Given the description of an element on the screen output the (x, y) to click on. 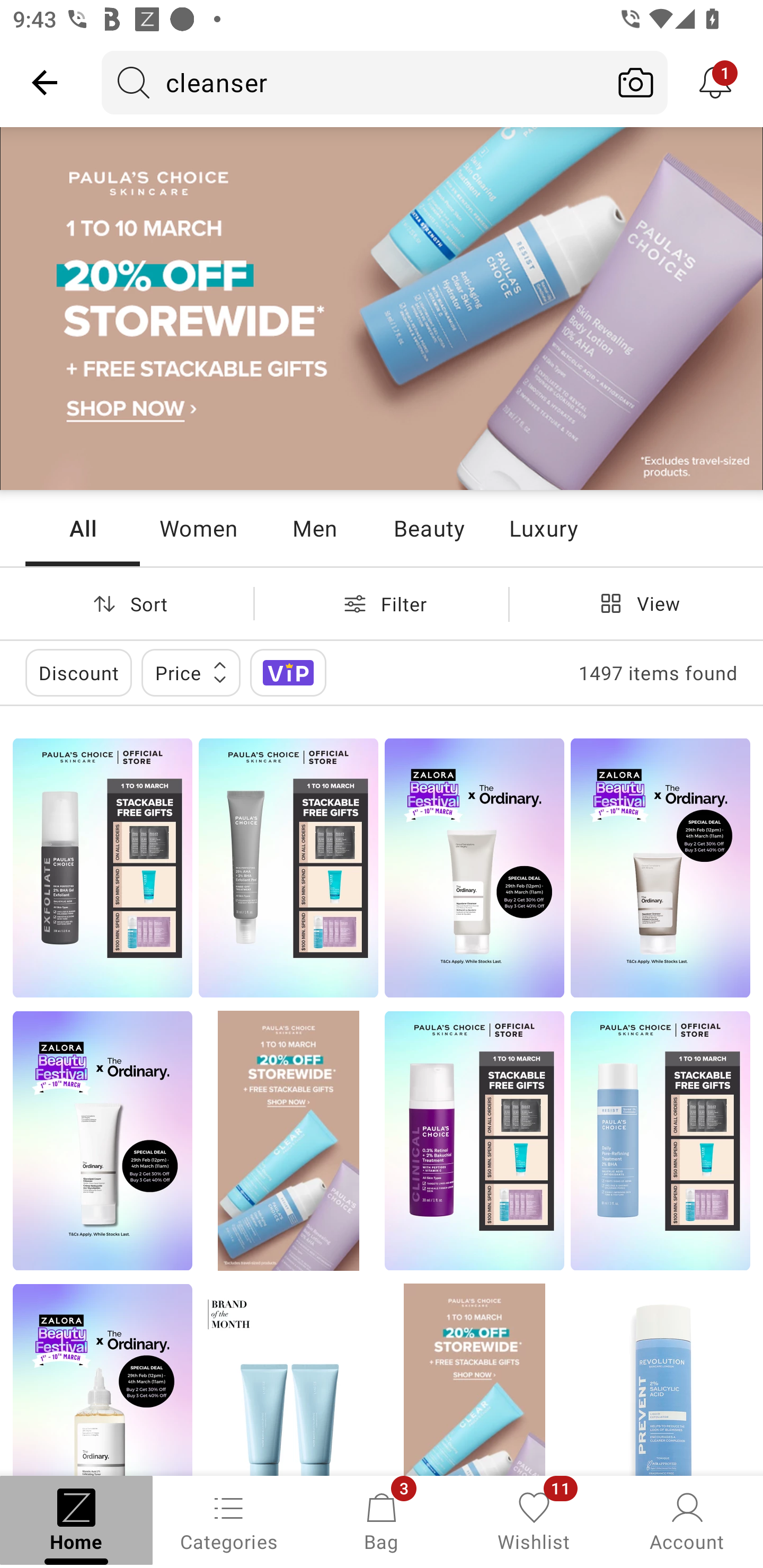
Navigate up (44, 82)
cleanser (352, 82)
Women (198, 527)
Men (314, 527)
Beauty (428, 527)
Luxury (543, 527)
Sort (126, 603)
Filter (381, 603)
View (636, 603)
Discount (78, 672)
Price (190, 672)
Categories (228, 1519)
Bag, 3 new notifications Bag (381, 1519)
Wishlist, 11 new notifications Wishlist (533, 1519)
Account (686, 1519)
